Given the description of an element on the screen output the (x, y) to click on. 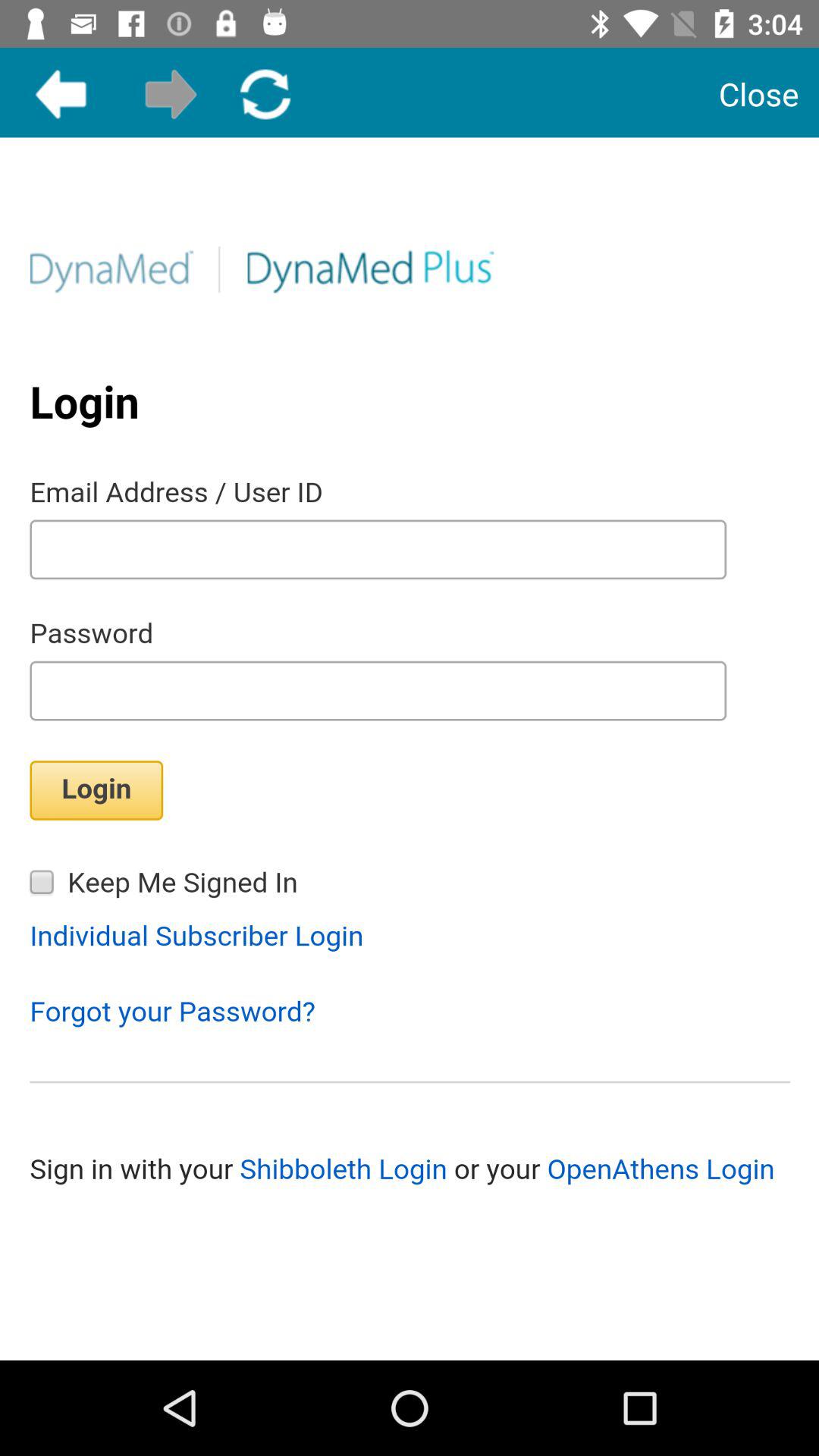
refresh page (265, 94)
